Given the description of an element on the screen output the (x, y) to click on. 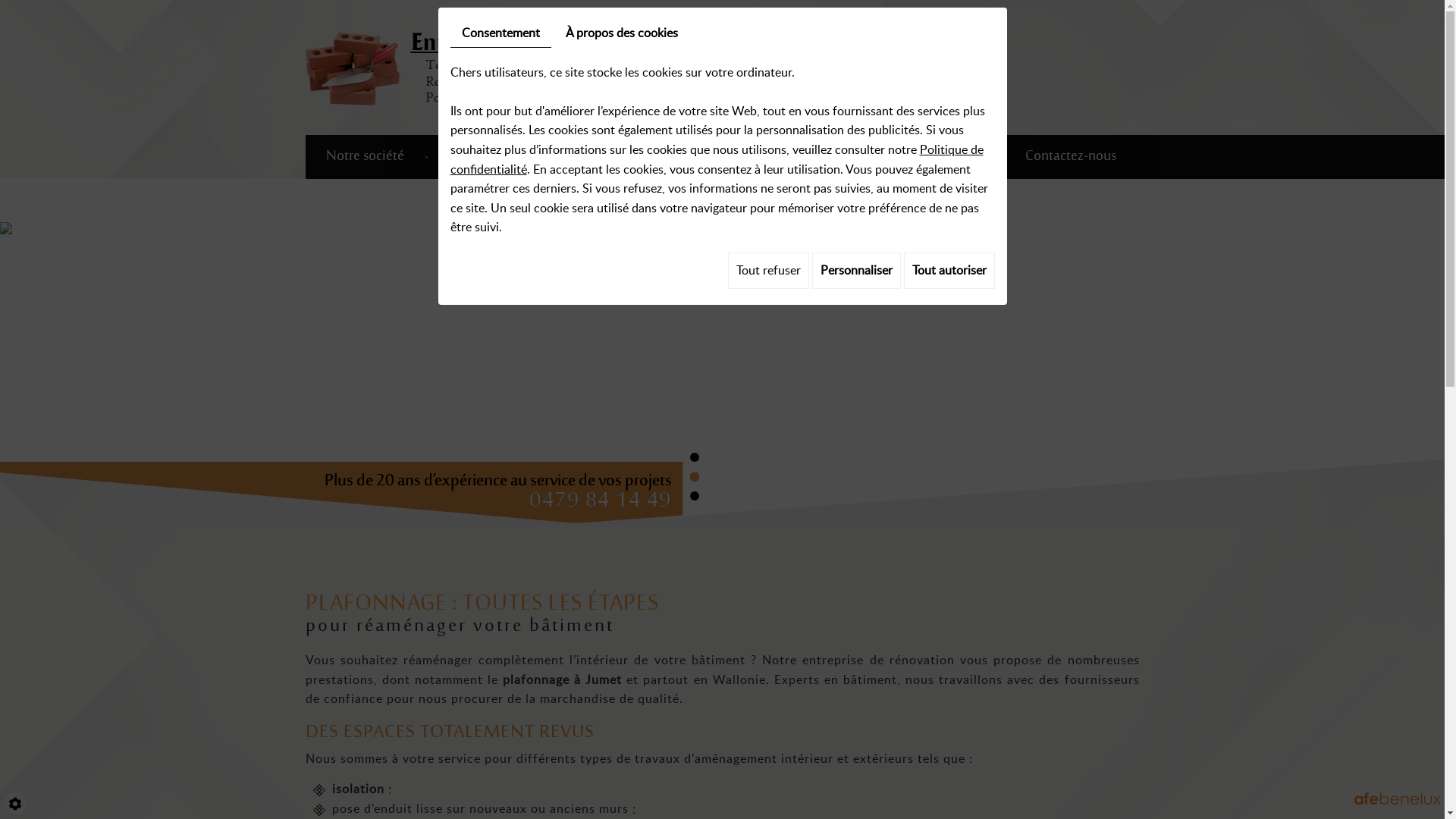
Tout refuser Element type: text (768, 270)
0479 84 14 49 Element type: text (586, 500)
Personnaliser Element type: text (855, 270)
Contactez-nous Element type: text (1070, 156)
Carrelage Element type: text (706, 156)
Plafonnage Element type: text (810, 156)
Nos services Element type: text (484, 156)
Tout autoriser Element type: text (948, 270)
Consentement Element type: text (500, 33)
